Given the description of an element on the screen output the (x, y) to click on. 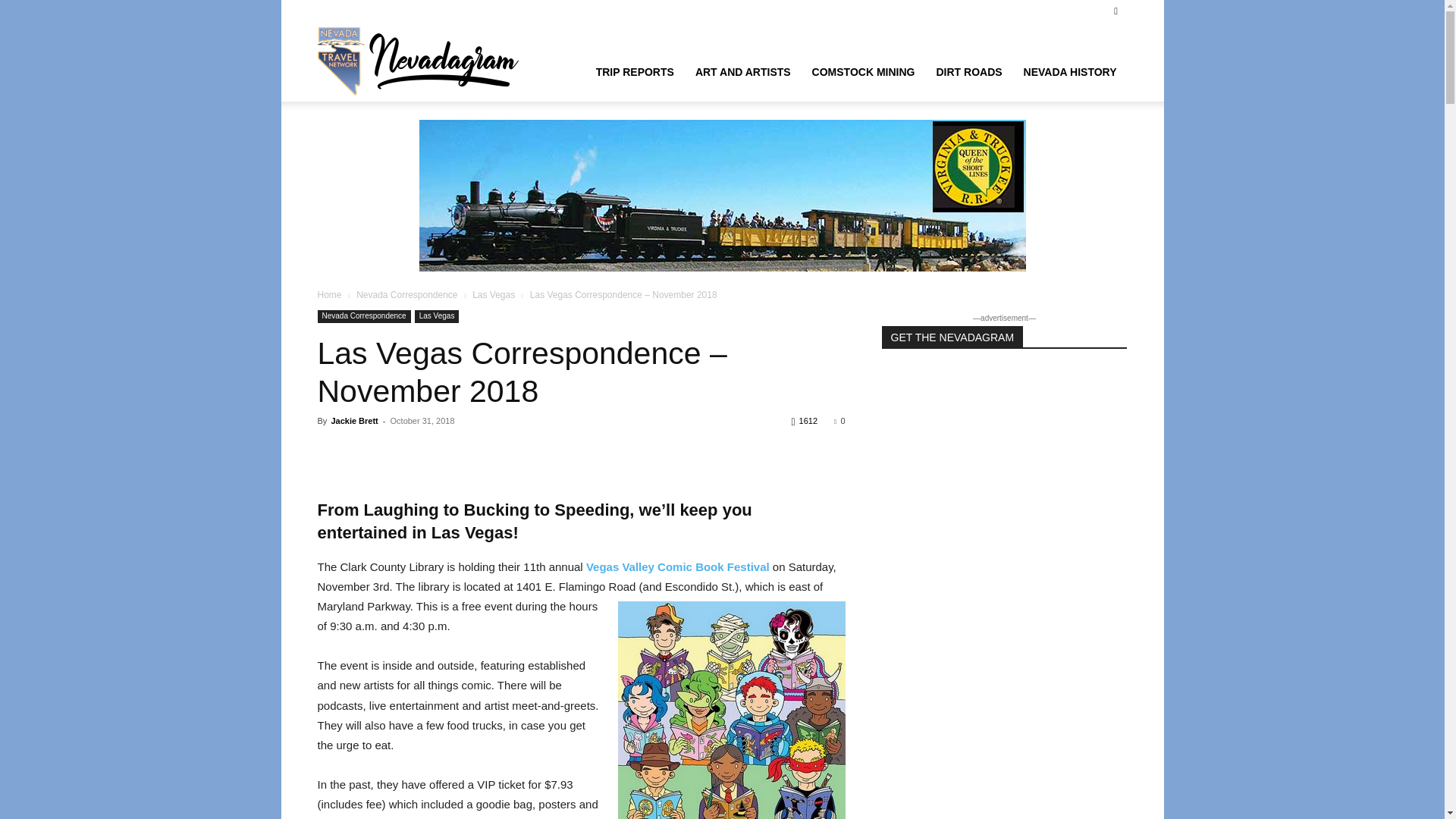
Las Vegas (493, 294)
Nevada Correspondence (406, 294)
TRIP REPORTS (634, 71)
Vegas Valley Comic Book Festival (678, 566)
NEVADA HISTORY (1069, 71)
Las Vegas (437, 316)
View all posts in Las Vegas (493, 294)
ART AND ARTISTS (743, 71)
COMSTOCK MINING (864, 71)
NevadaGram from the Nevada Travel Network (419, 61)
